Given the description of an element on the screen output the (x, y) to click on. 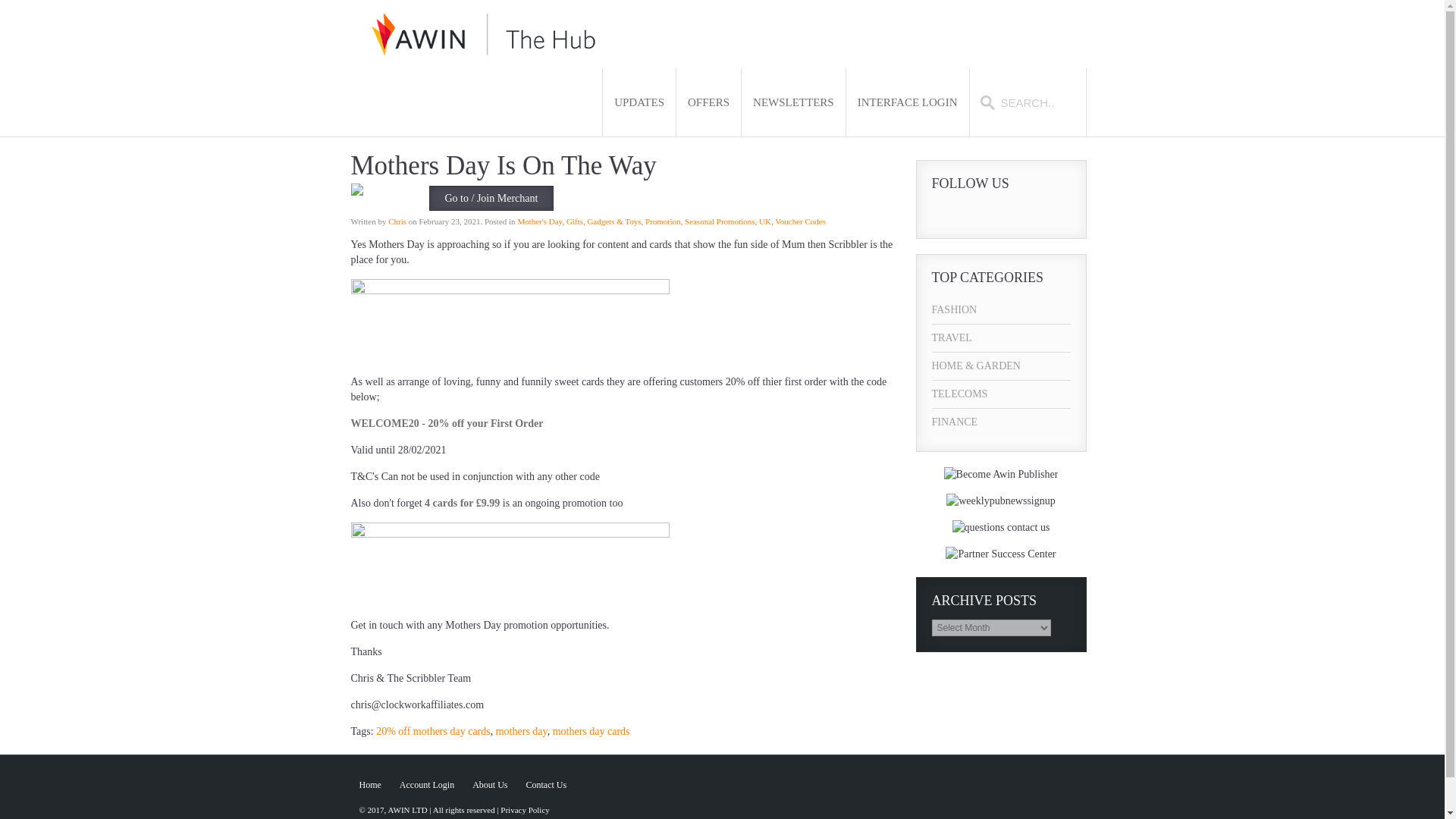
mothers day cards (591, 731)
UPDATES (639, 102)
Reset (3, 2)
UK (764, 221)
Seasonal Promotions (719, 221)
TELECOMS (1000, 393)
FASHION (1000, 309)
INTERFACE LOGIN (907, 102)
NEWSLETTERS (793, 102)
About Us (488, 784)
mothers day (521, 731)
Home (370, 784)
FINANCE (1000, 421)
Mother's Day (539, 221)
Account Login (426, 784)
